Given the description of an element on the screen output the (x, y) to click on. 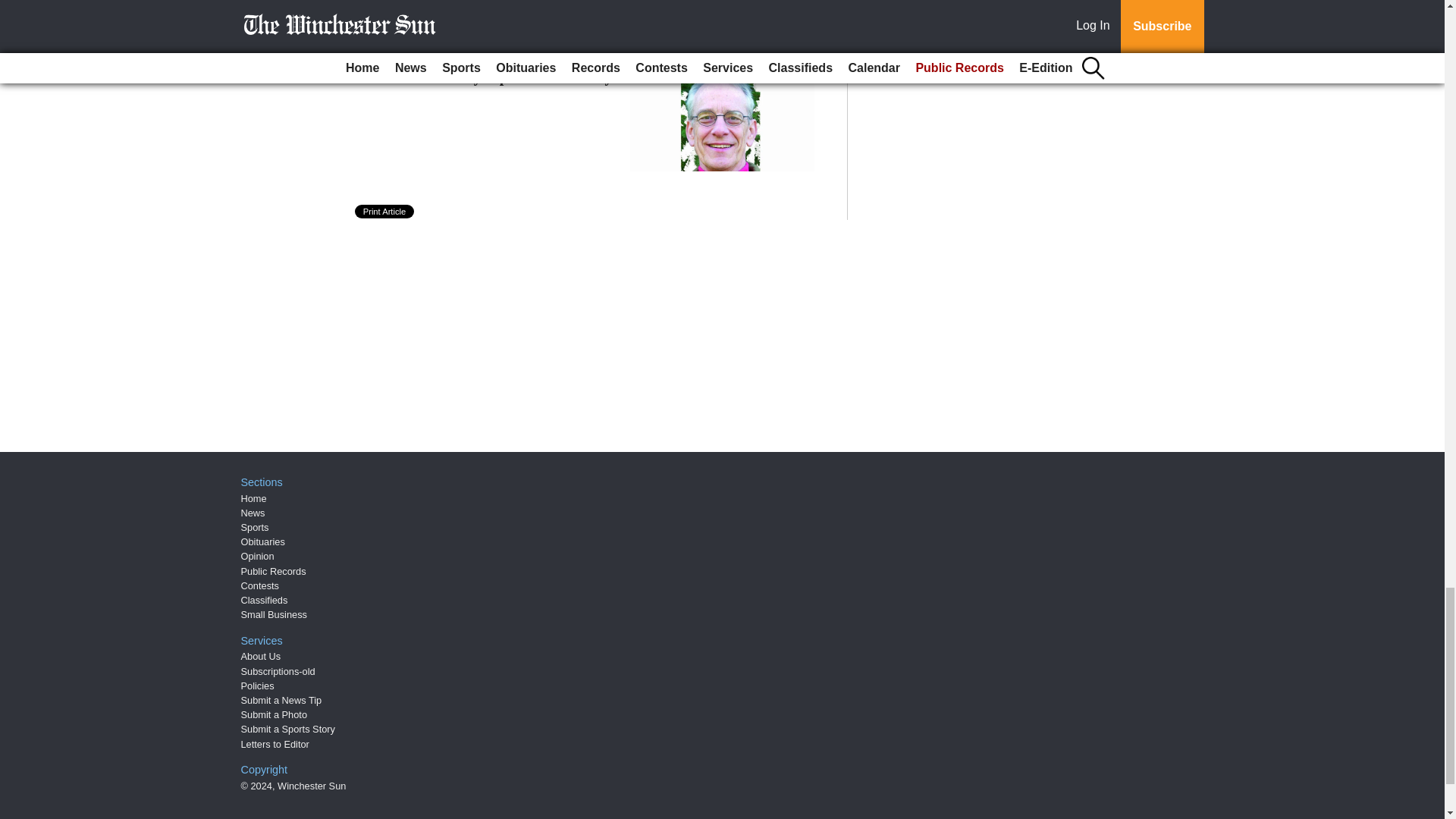
Enoch: Turkey capital of Kentucky (498, 76)
Obituaries (263, 541)
Sports (255, 527)
Home (253, 498)
Print Article (384, 211)
Enoch: Turkey capital of Kentucky (498, 76)
News (252, 512)
